Given the description of an element on the screen output the (x, y) to click on. 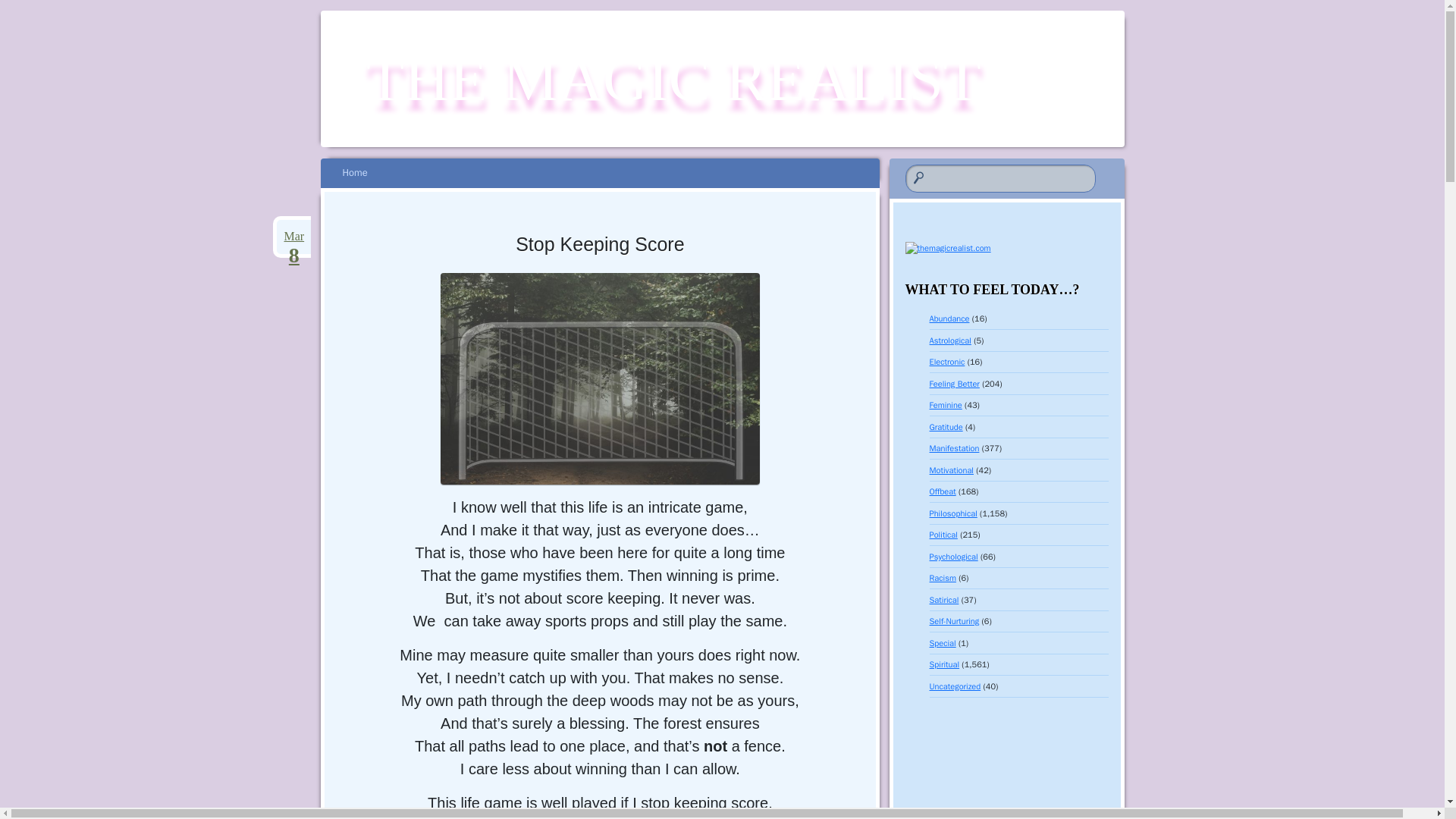
THE MAGIC REALIST (674, 79)
The  Magic  Realist (293, 236)
Skip to content (674, 79)
Skip to content (362, 173)
Home (362, 173)
March 8, 2018 (354, 173)
